Given the description of an element on the screen output the (x, y) to click on. 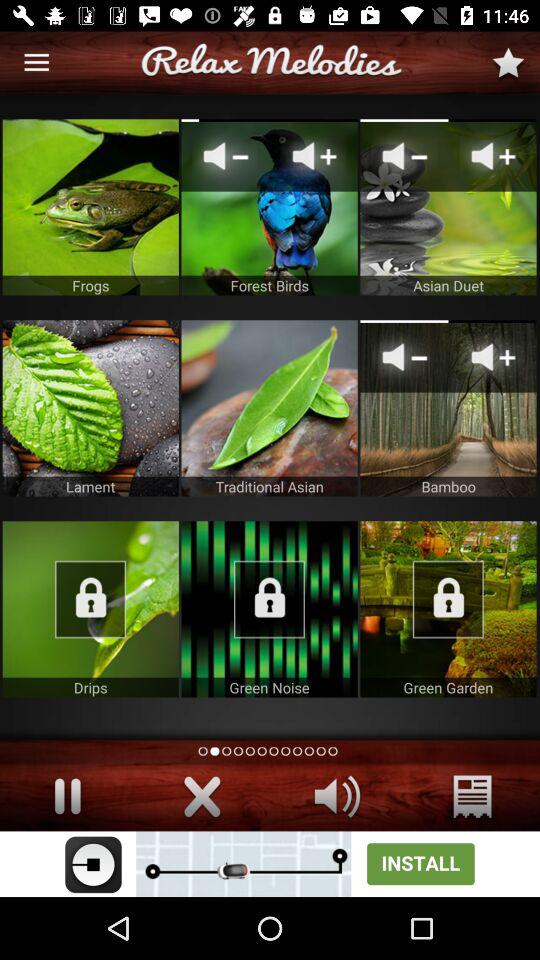
select traditional asian (269, 408)
